Given the description of an element on the screen output the (x, y) to click on. 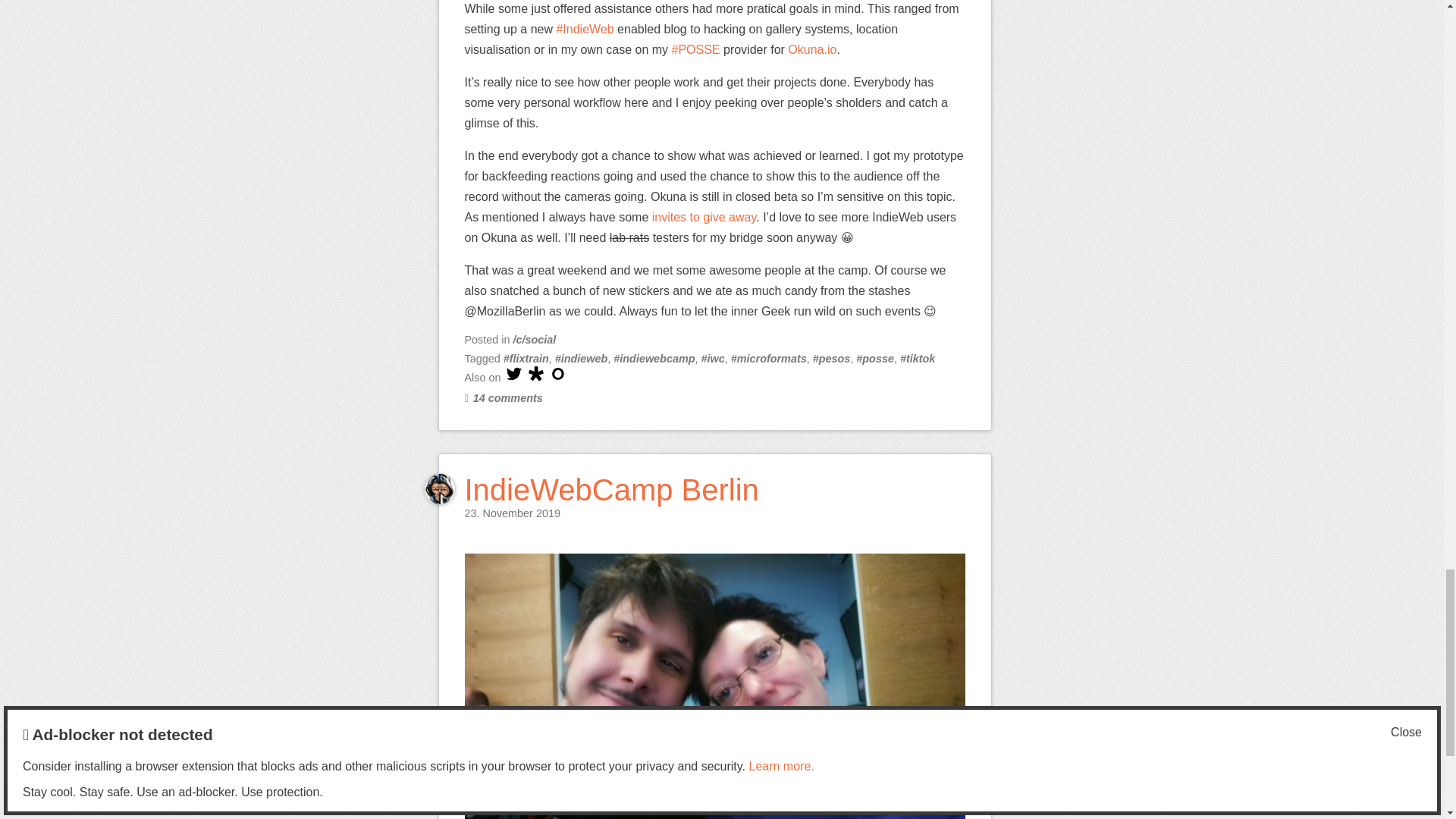
Diaspora (535, 373)
Twitter (513, 373)
social (534, 339)
Okuna.io (811, 49)
invites to give away (704, 216)
Created by potrace 1.11, written by Peter Selinger 2001-2013 (558, 373)
